Given the description of an element on the screen output the (x, y) to click on. 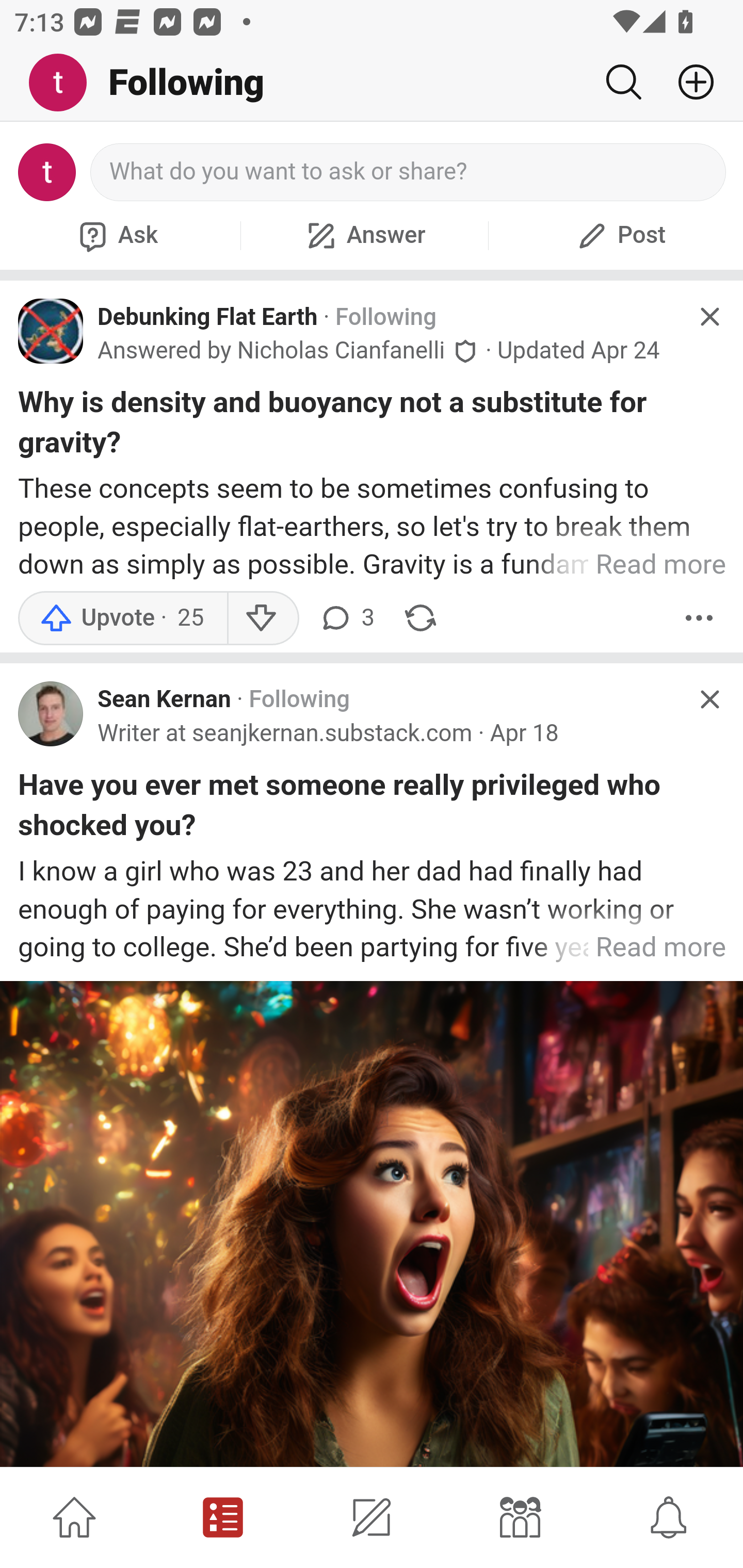
Me Following Search Add (371, 82)
Me (64, 83)
Search (623, 82)
Add (688, 82)
What do you want to ask or share? (408, 172)
Ask (116, 234)
Answer (364, 234)
Post (618, 234)
Hide (709, 316)
Icon for Debunking Flat Earth (50, 330)
Debunking Flat Earth (208, 316)
Following (384, 316)
Nicholas Cianfanelli (340, 350)
Updated Apr 24 Updated  Apr 24 (578, 350)
Upvote (122, 617)
Downvote (262, 617)
3 comments (346, 617)
Share (420, 617)
More (699, 617)
Hide (709, 699)
Profile photo for Sean Kernan (50, 712)
Sean Kernan (164, 700)
Following (299, 700)
Apr 18 (523, 733)
